Given the description of an element on the screen output the (x, y) to click on. 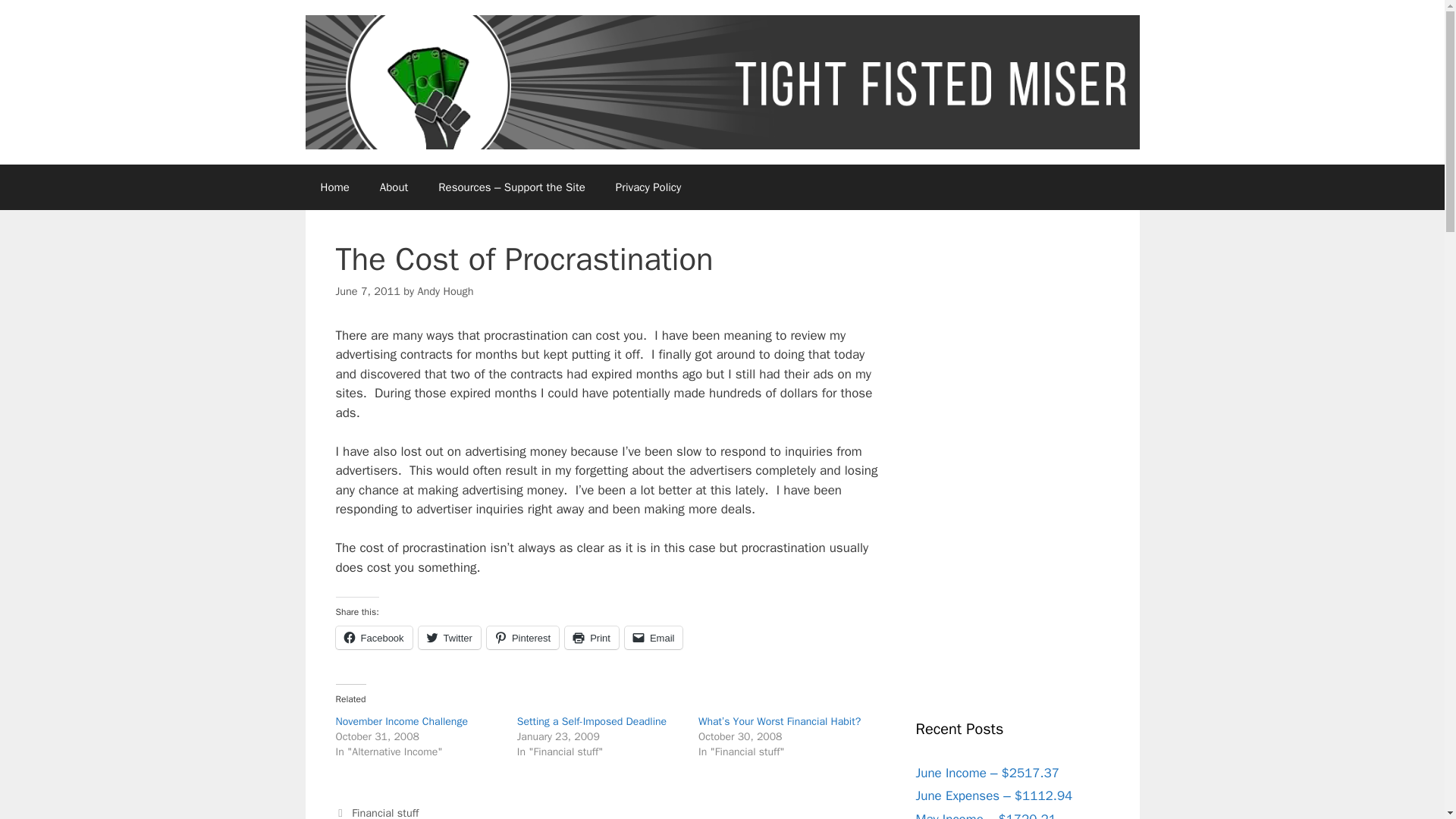
Setting a Self-Imposed Deadline (591, 721)
Home (334, 186)
Setting a Self-Imposed Deadline (591, 721)
Privacy Policy (648, 186)
Facebook (373, 637)
Click to share on Pinterest (522, 637)
Click to print (591, 637)
Print (591, 637)
About (394, 186)
Andy Hough (444, 291)
Click to share on Twitter (449, 637)
Click to share on Facebook (373, 637)
November Income Challenge (400, 721)
Financial stuff (385, 812)
Click to email a link to a friend (653, 637)
